Given the description of an element on the screen output the (x, y) to click on. 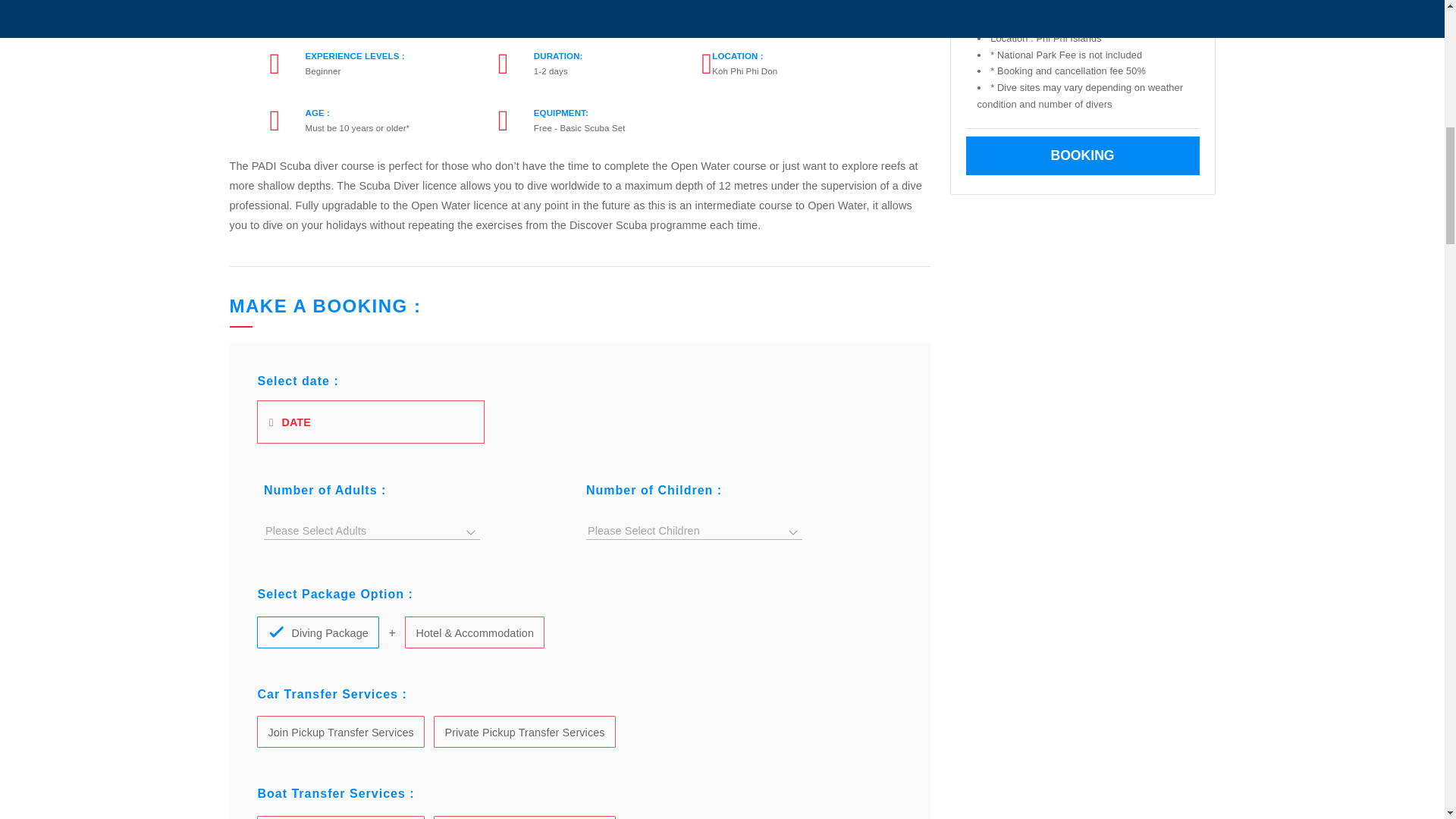
Package Details (404, 11)
Make a Booking (287, 11)
How to Use (521, 11)
Gallery (753, 11)
Location (637, 11)
